Given the description of an element on the screen output the (x, y) to click on. 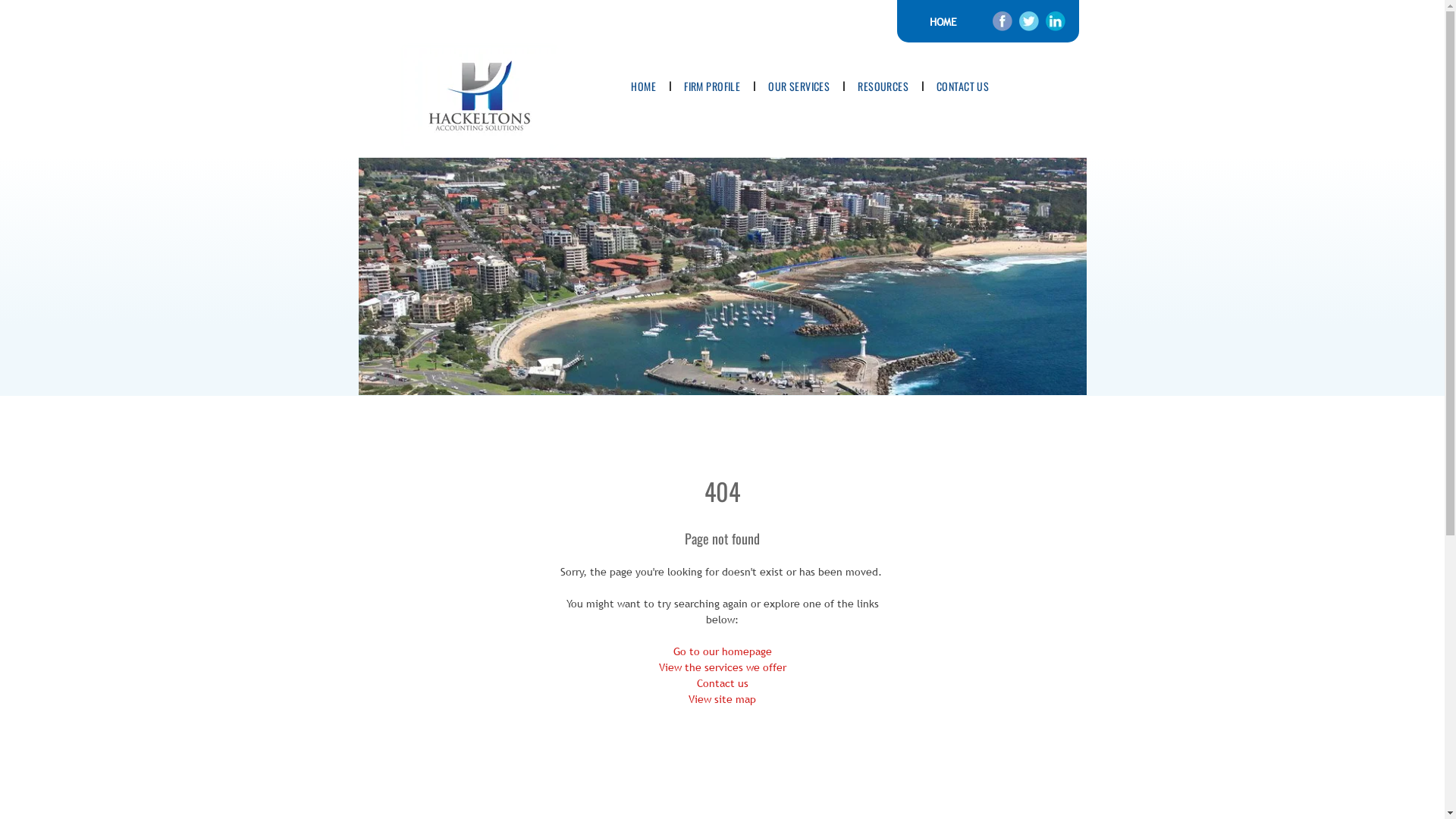
Contact us Element type: text (721, 683)
View site map Element type: text (722, 699)
FIRM PROFILE Element type: text (711, 86)
OUR SERVICES Element type: text (798, 86)
HOME Element type: text (643, 86)
Go to our homepage Element type: text (722, 651)
CONTACT US Element type: text (962, 86)
RESOURCES Element type: text (882, 86)
HOME Element type: text (943, 20)
View the services we offer Element type: text (721, 667)
